Given the description of an element on the screen output the (x, y) to click on. 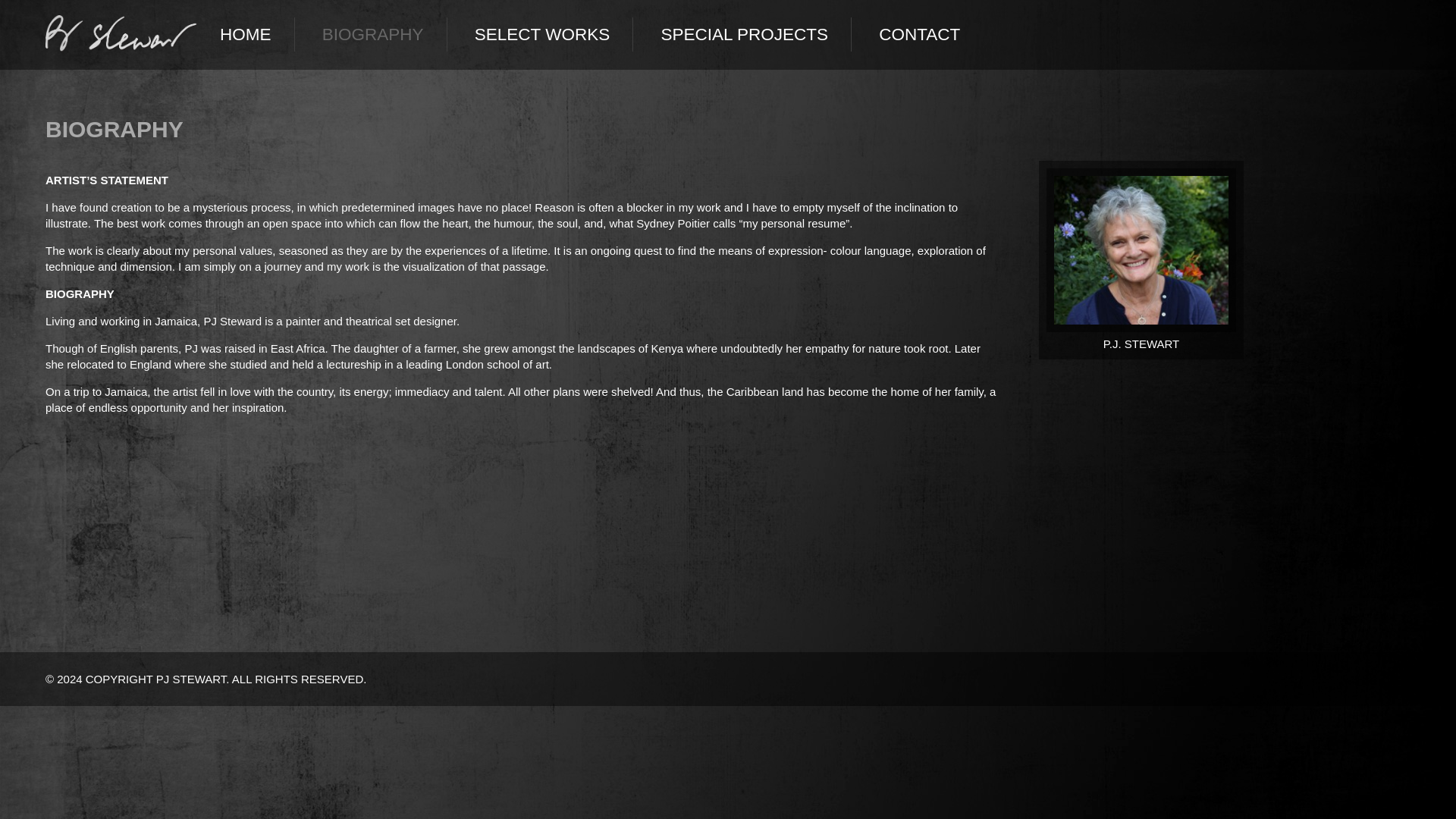
SELECT WORKS (542, 34)
HOME (245, 34)
BIOGRAPHY (372, 34)
SPECIAL PROJECTS (743, 34)
CONTACT (919, 34)
